Given the description of an element on the screen output the (x, y) to click on. 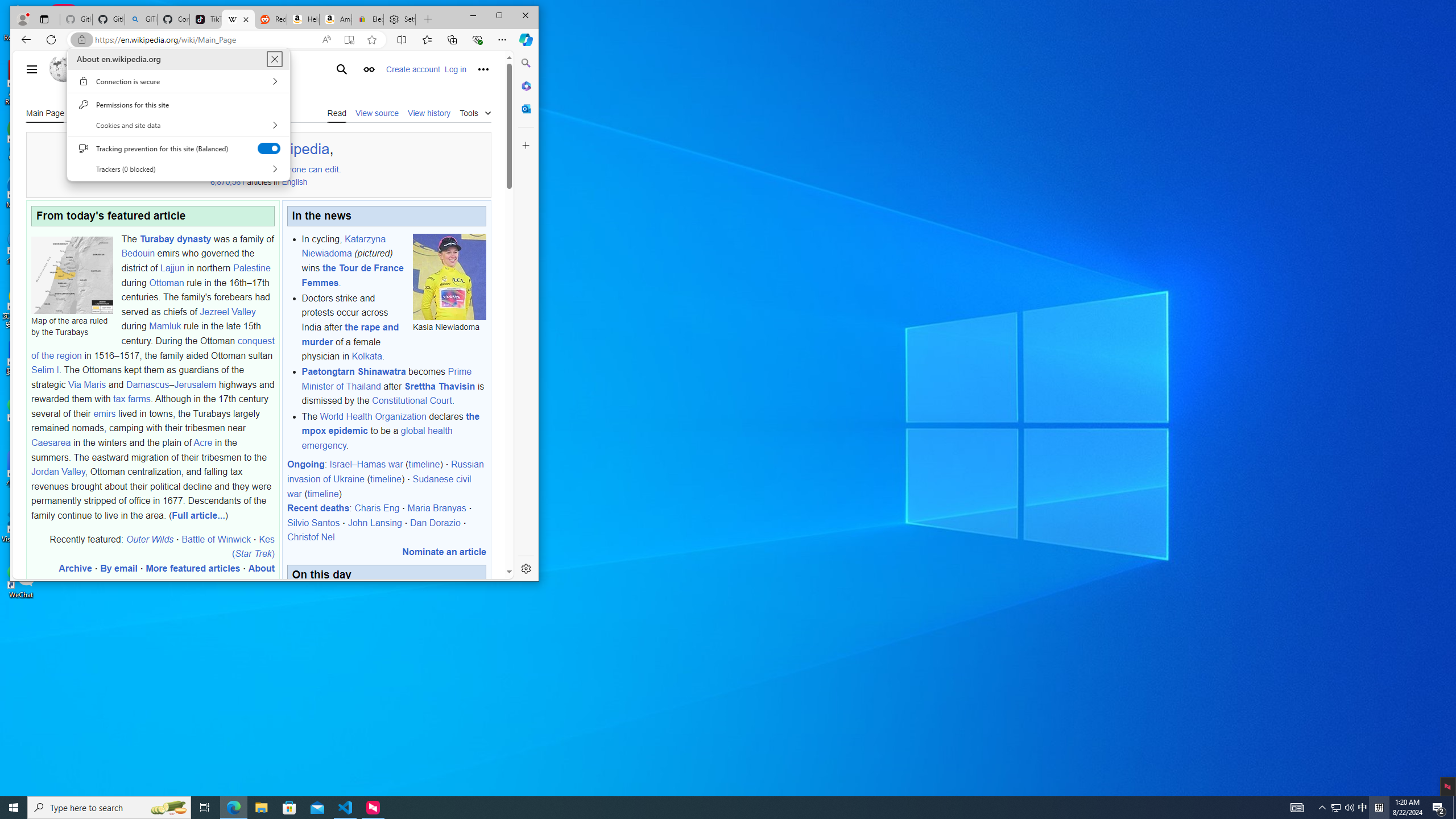
Kes (Star Trek) (253, 546)
Mamluk (165, 326)
(timeline) (323, 493)
Kasia Niewiadoma (449, 276)
Log in (454, 68)
Constitutional Court (411, 400)
Sudanese civil war (timeline) (378, 486)
Sudanese civil war (378, 486)
Trackers (0 blocked) (177, 168)
